Given the description of an element on the screen output the (x, y) to click on. 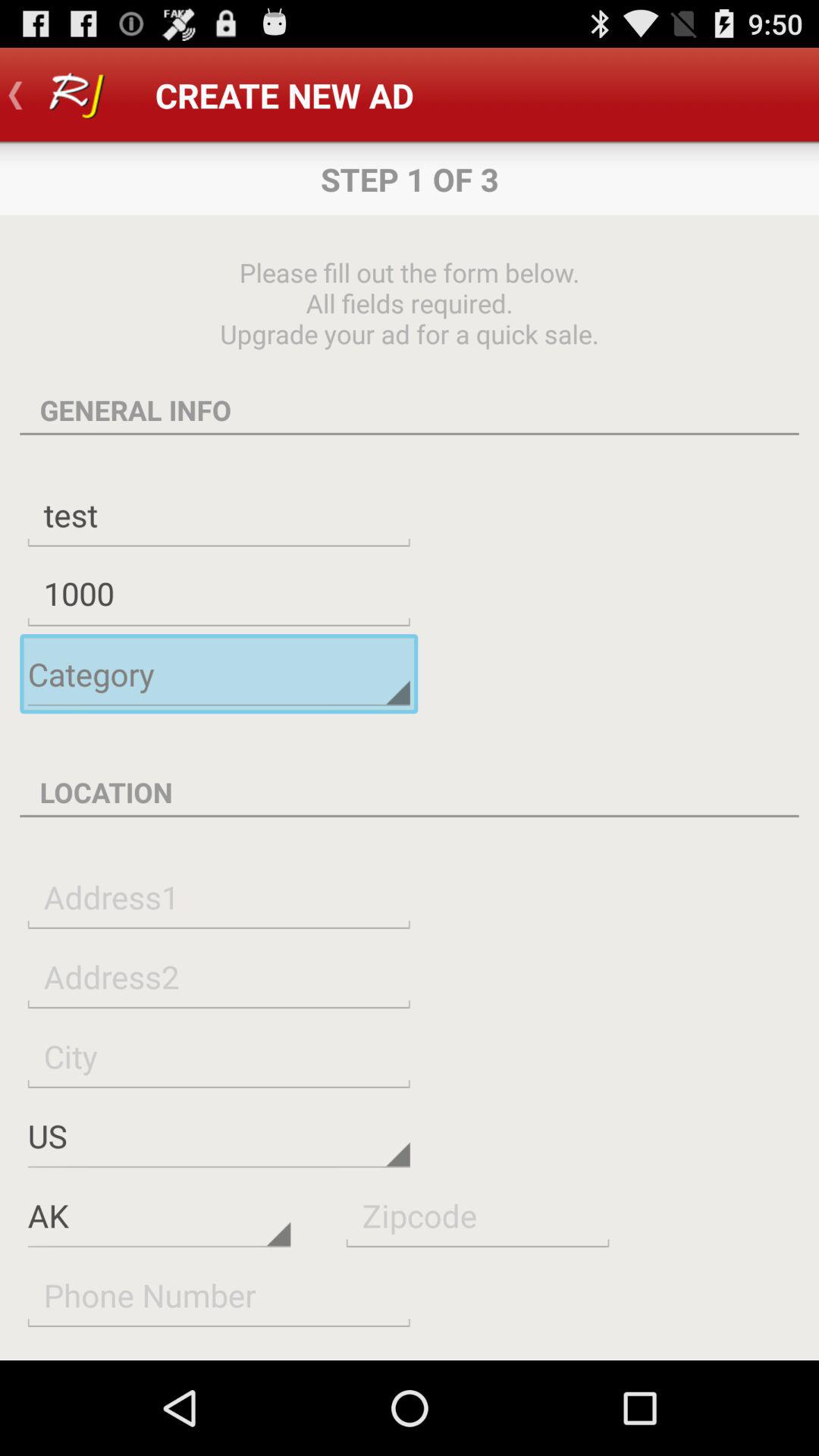
type zipcode (477, 1215)
